Given the description of an element on the screen output the (x, y) to click on. 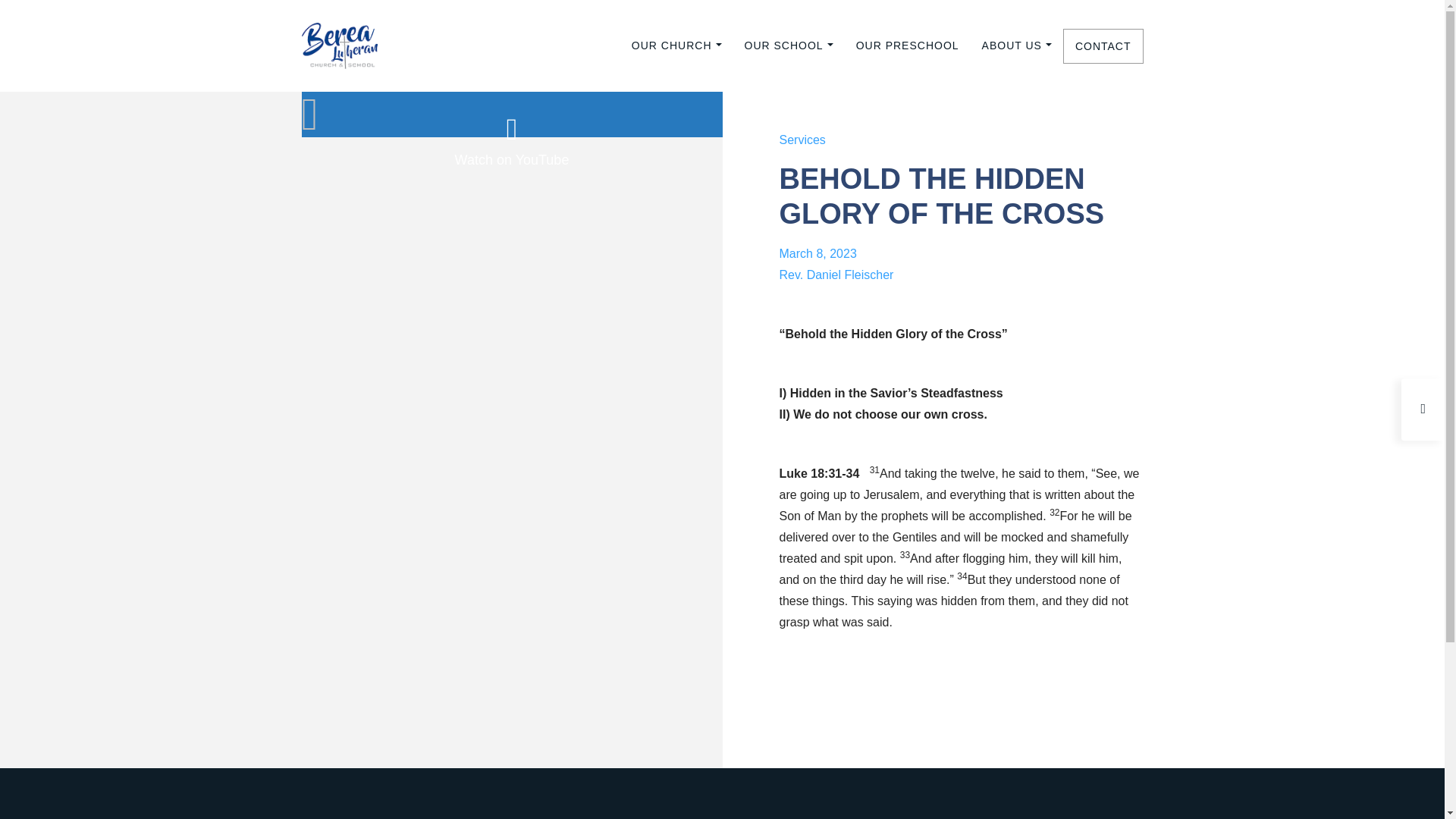
OUR PRESCHOOL (907, 45)
OUR CHURCH (676, 45)
CONTACT (1103, 46)
OUR SCHOOL (788, 45)
Watch on YouTube (511, 140)
ABOUT US (1016, 45)
